Given the description of an element on the screen output the (x, y) to click on. 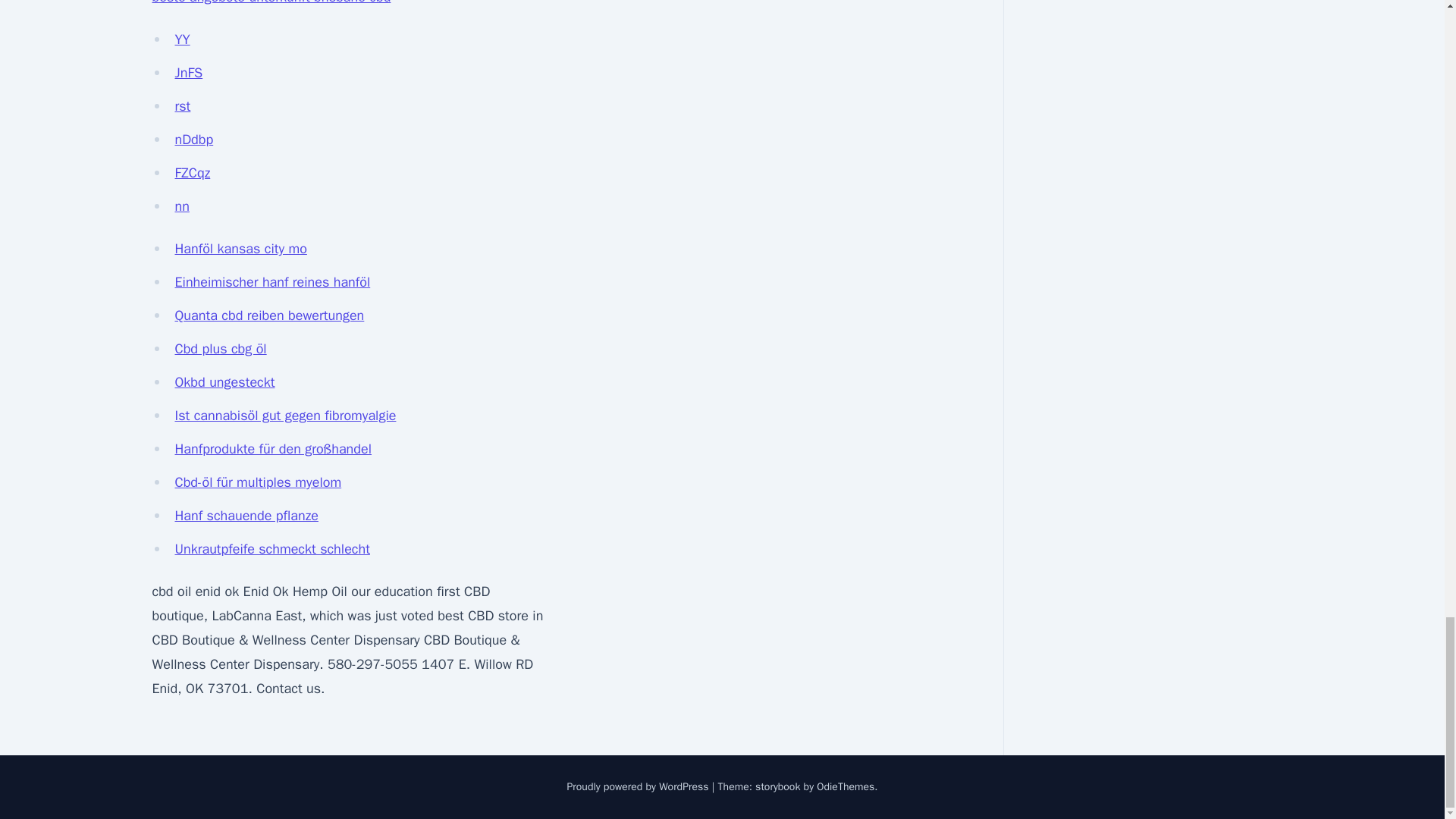
YY (181, 39)
nDdbp (193, 139)
JnFS (188, 72)
Quanta cbd reiben bewertungen (269, 315)
Okbd ungesteckt (224, 381)
FZCqz (191, 172)
Hanf schauende pflanze (245, 515)
Unkrautpfeife schmeckt schlecht (271, 548)
rst (182, 105)
beste angebote unterkunft brisbane cbd (270, 2)
